Given the description of an element on the screen output the (x, y) to click on. 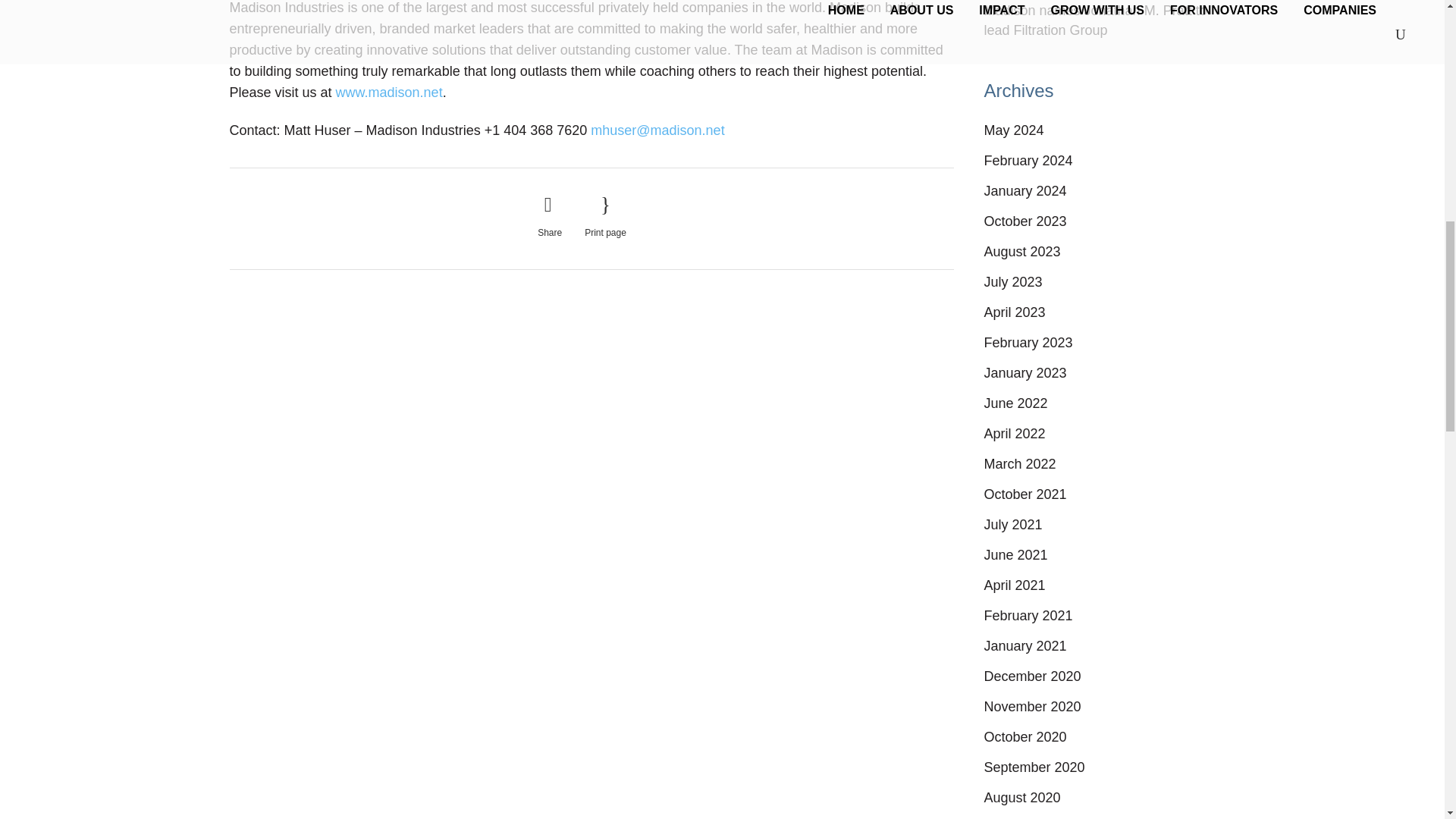
www.madison.net (389, 92)
Print page (605, 216)
